Given the description of an element on the screen output the (x, y) to click on. 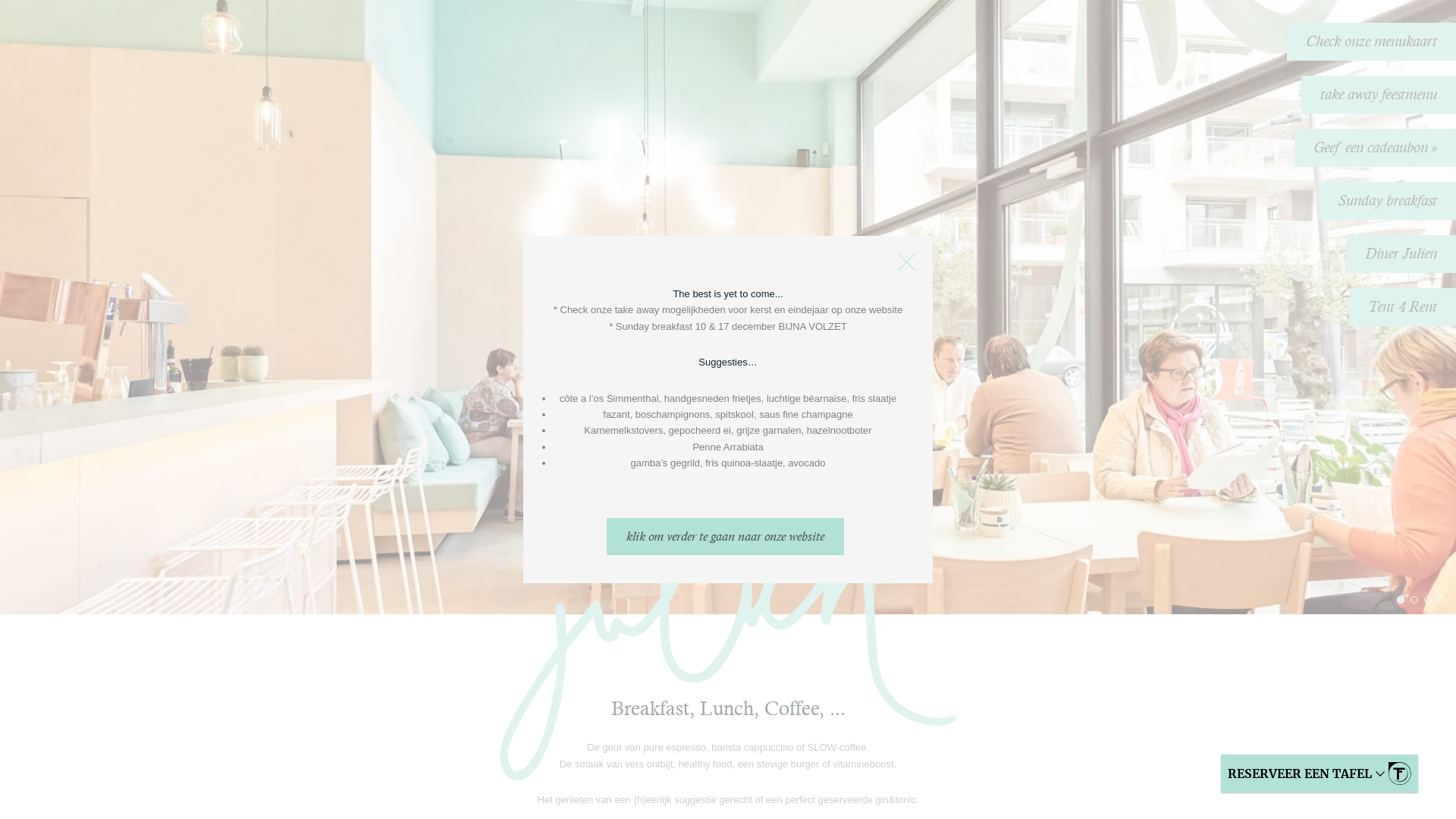
klik om verder te gaan naar onze website Element type: text (725, 536)
